Given the description of an element on the screen output the (x, y) to click on. 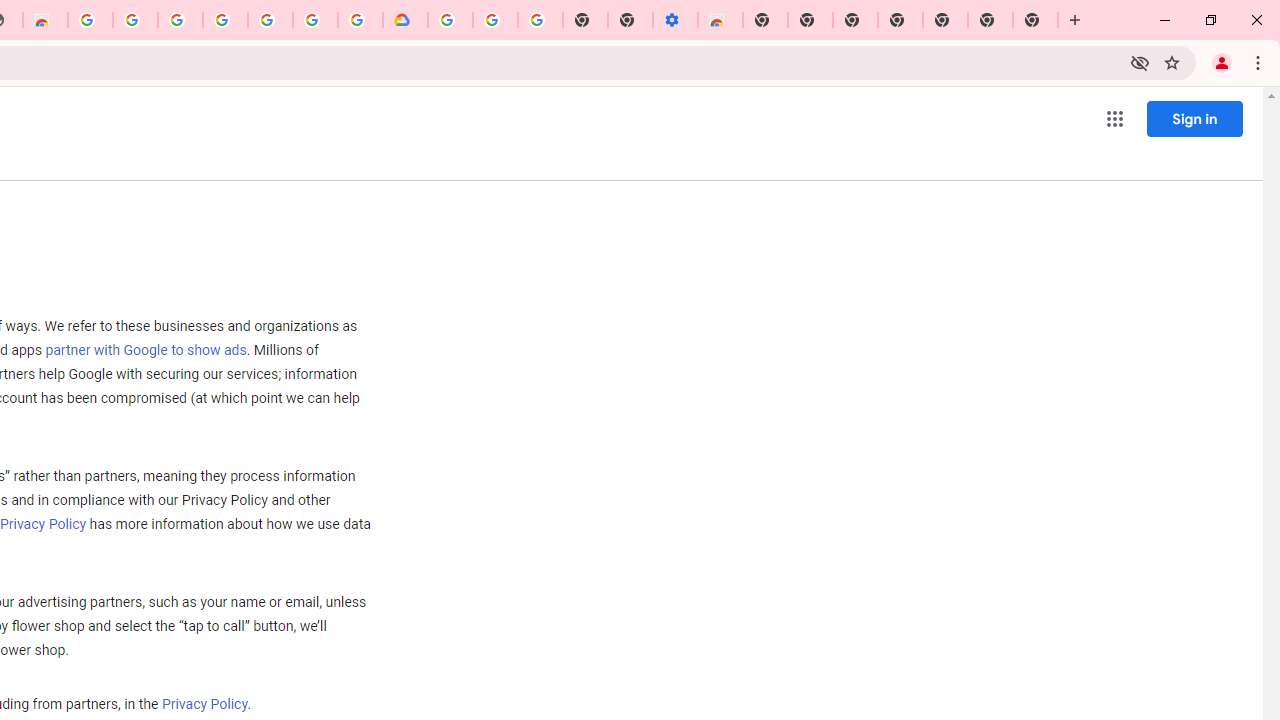
New Tab (765, 20)
partner with Google to show ads (145, 351)
Settings - Accessibility (674, 20)
Google Account Help (495, 20)
Chrome Web Store - Accessibility extensions (720, 20)
